Given the description of an element on the screen output the (x, y) to click on. 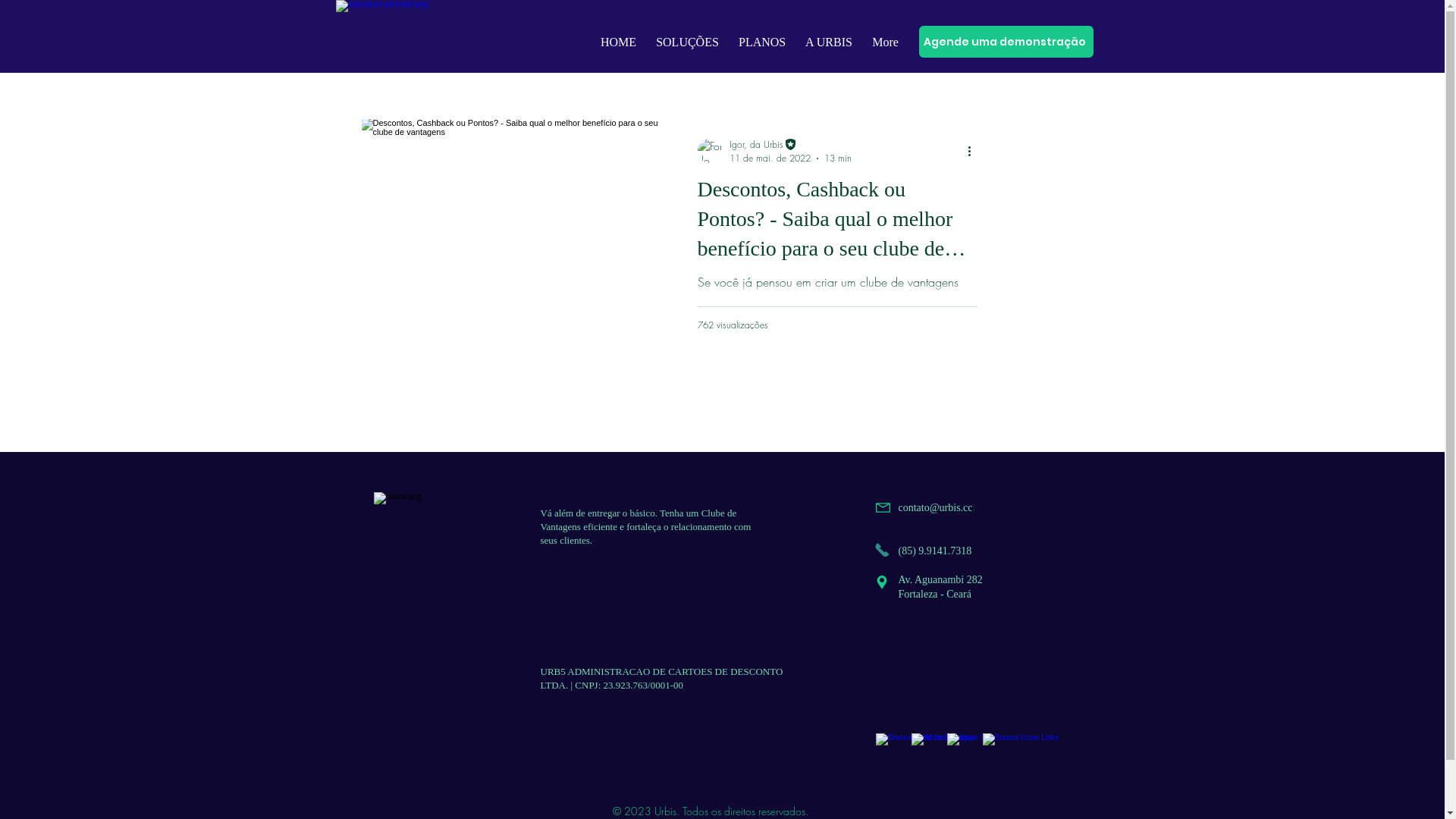
PLANOS Element type: text (761, 35)
contato@urbis.cc Element type: text (934, 507)
HOME Element type: text (618, 35)
A URBIS Element type: text (828, 35)
